Given the description of an element on the screen output the (x, y) to click on. 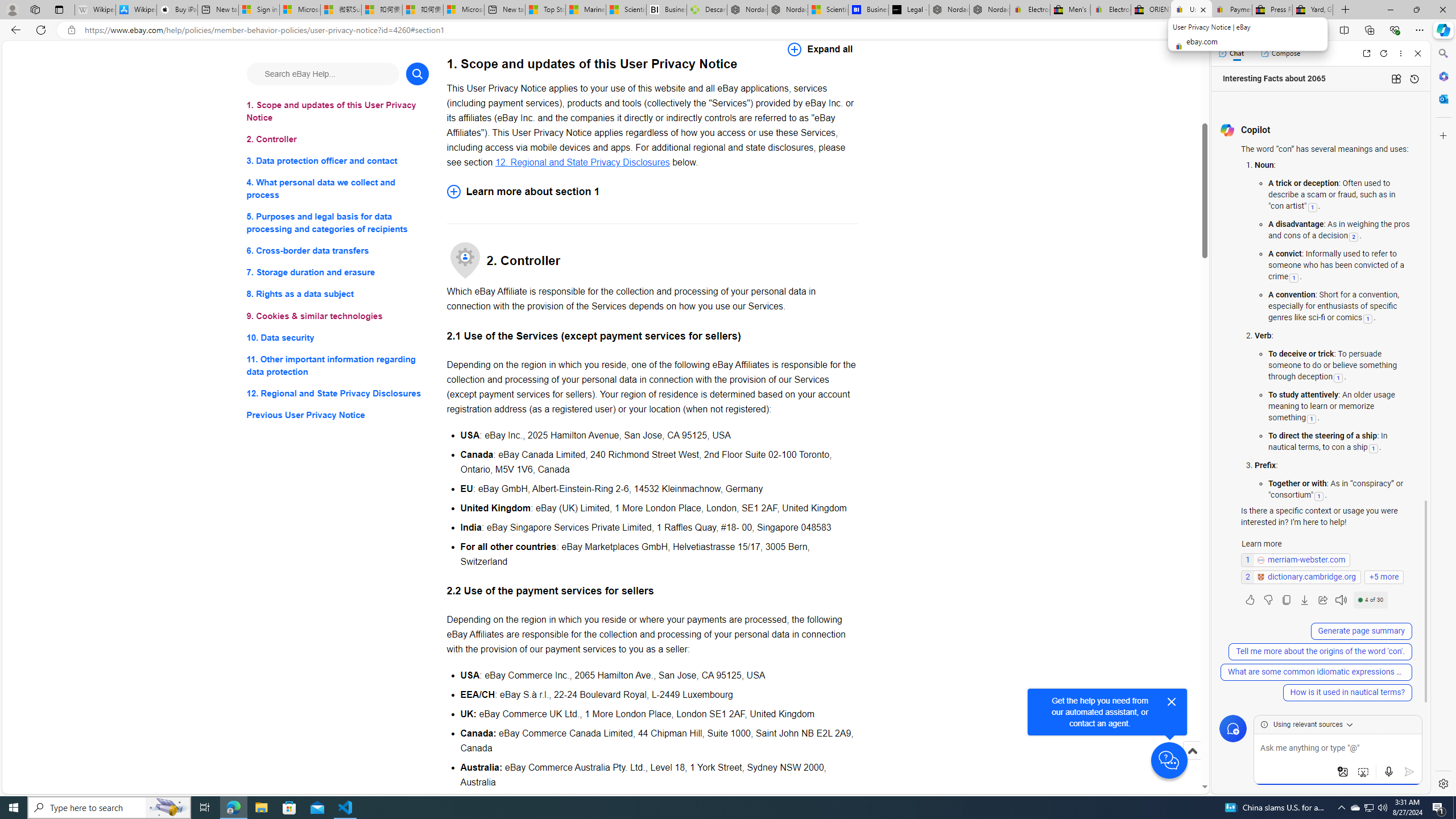
Search eBay Help... (322, 73)
8. Rights as a data subject (337, 293)
Payments Terms of Use | eBay.com (1231, 9)
Compose (1280, 52)
